Given the description of an element on the screen output the (x, y) to click on. 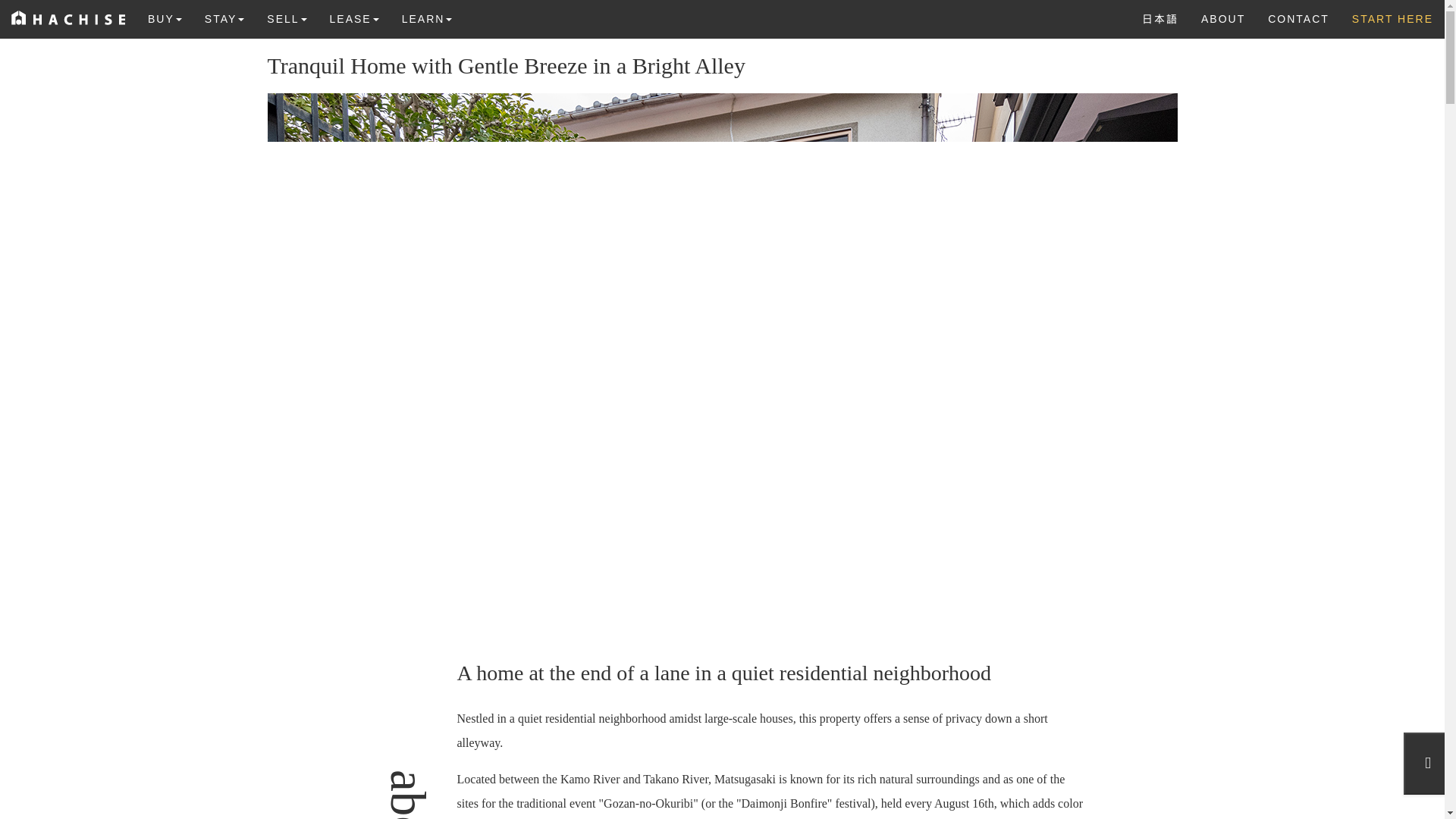
SELL (286, 18)
ABOUT (1222, 18)
CONTACT (1298, 18)
BUY (164, 18)
LEASE (354, 18)
STAY (224, 18)
LEARN (427, 18)
